Given the description of an element on the screen output the (x, y) to click on. 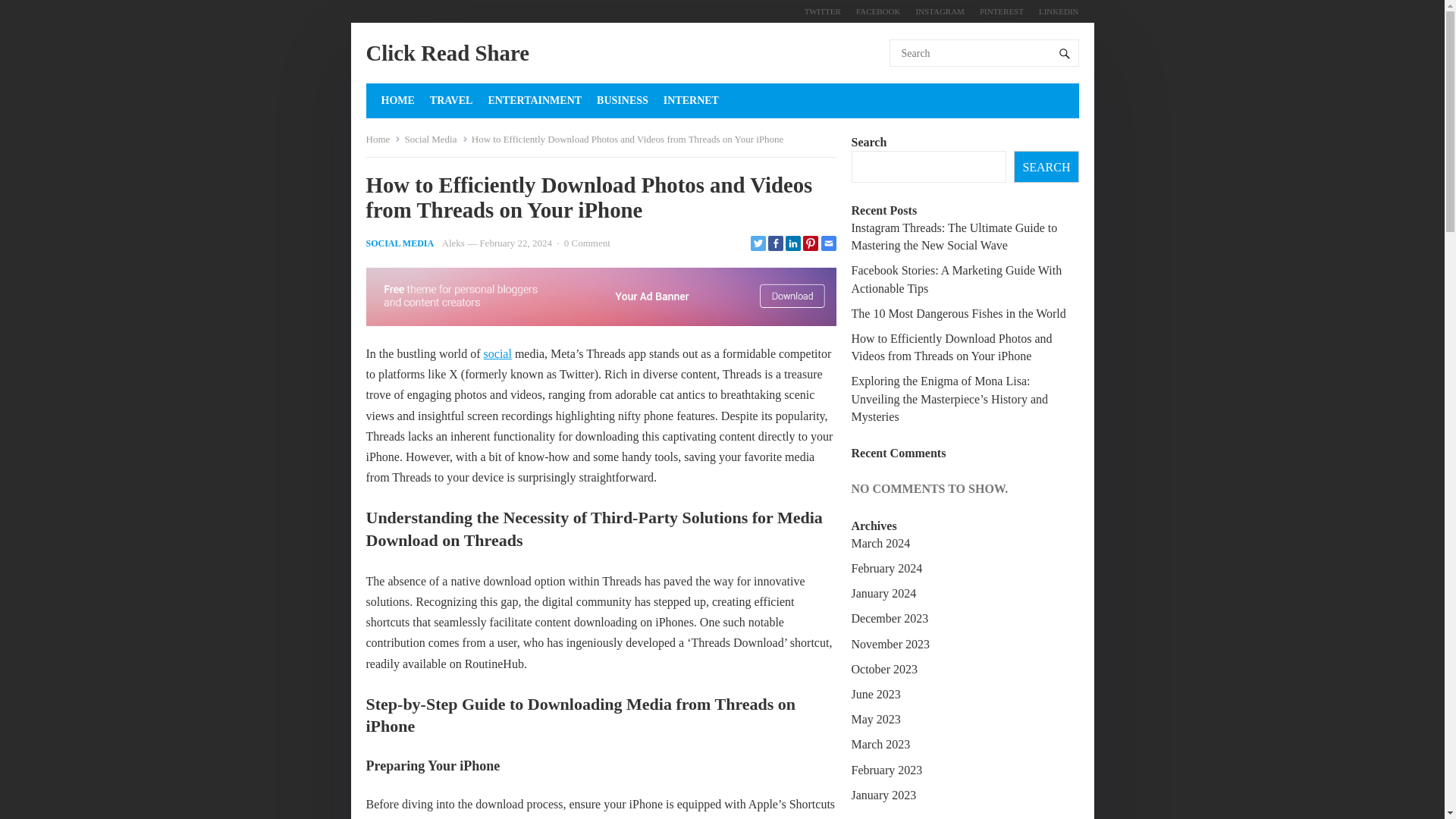
PINTEREST (1001, 11)
Click Read Share (446, 52)
0 Comment (587, 242)
TRAVEL (451, 100)
ENTERTAINMENT (533, 100)
HOME (396, 100)
INTERNET (691, 100)
BUSINESS (621, 100)
SOCIAL MEDIA (398, 243)
Posts by Aleks (453, 242)
LINKEDIN (1054, 11)
Social Media (435, 138)
Aleks (453, 242)
Home (382, 138)
FACEBOOK (877, 11)
